Given the description of an element on the screen output the (x, y) to click on. 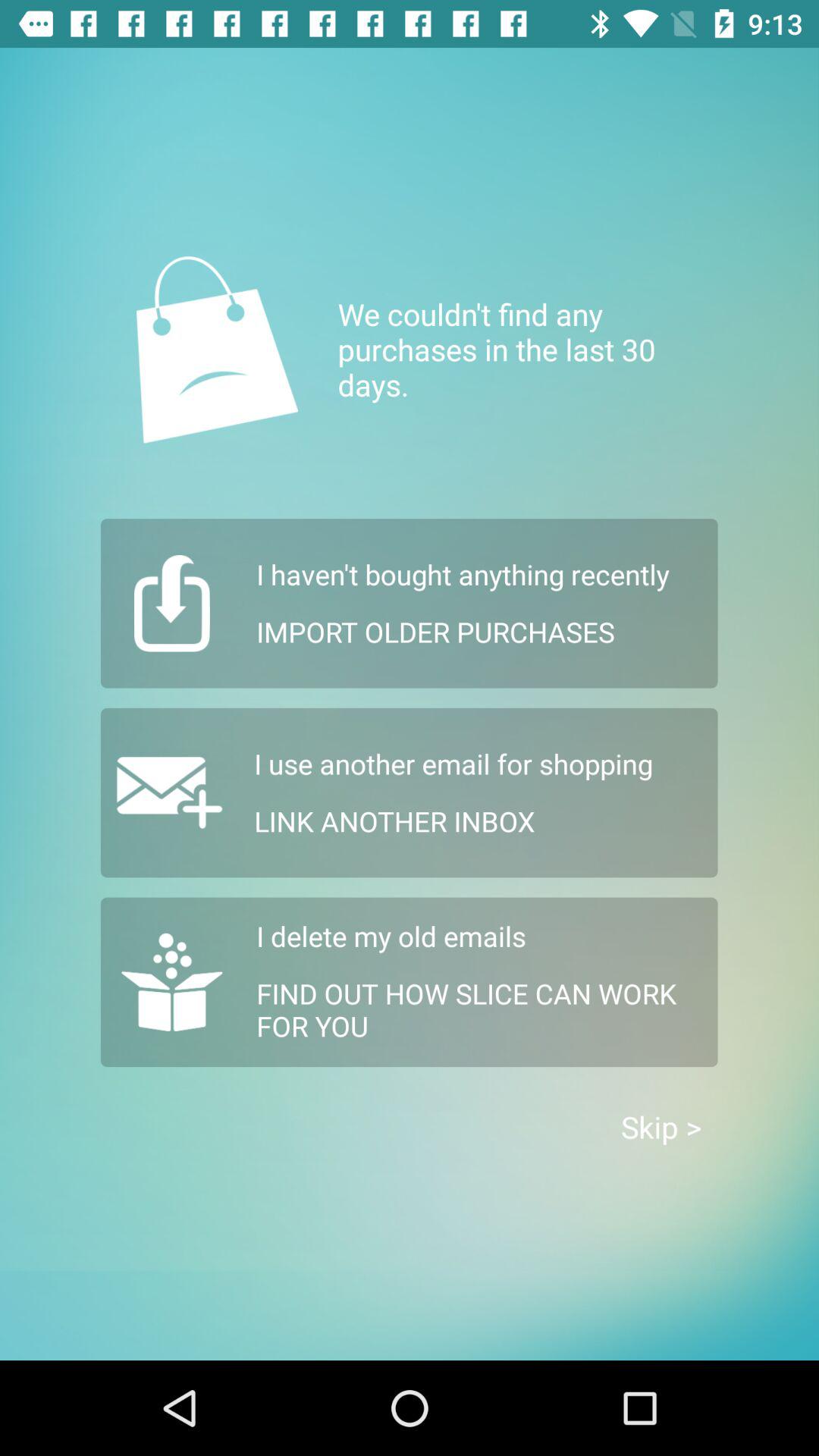
choose icon below the find out how item (661, 1126)
